Given the description of an element on the screen output the (x, y) to click on. 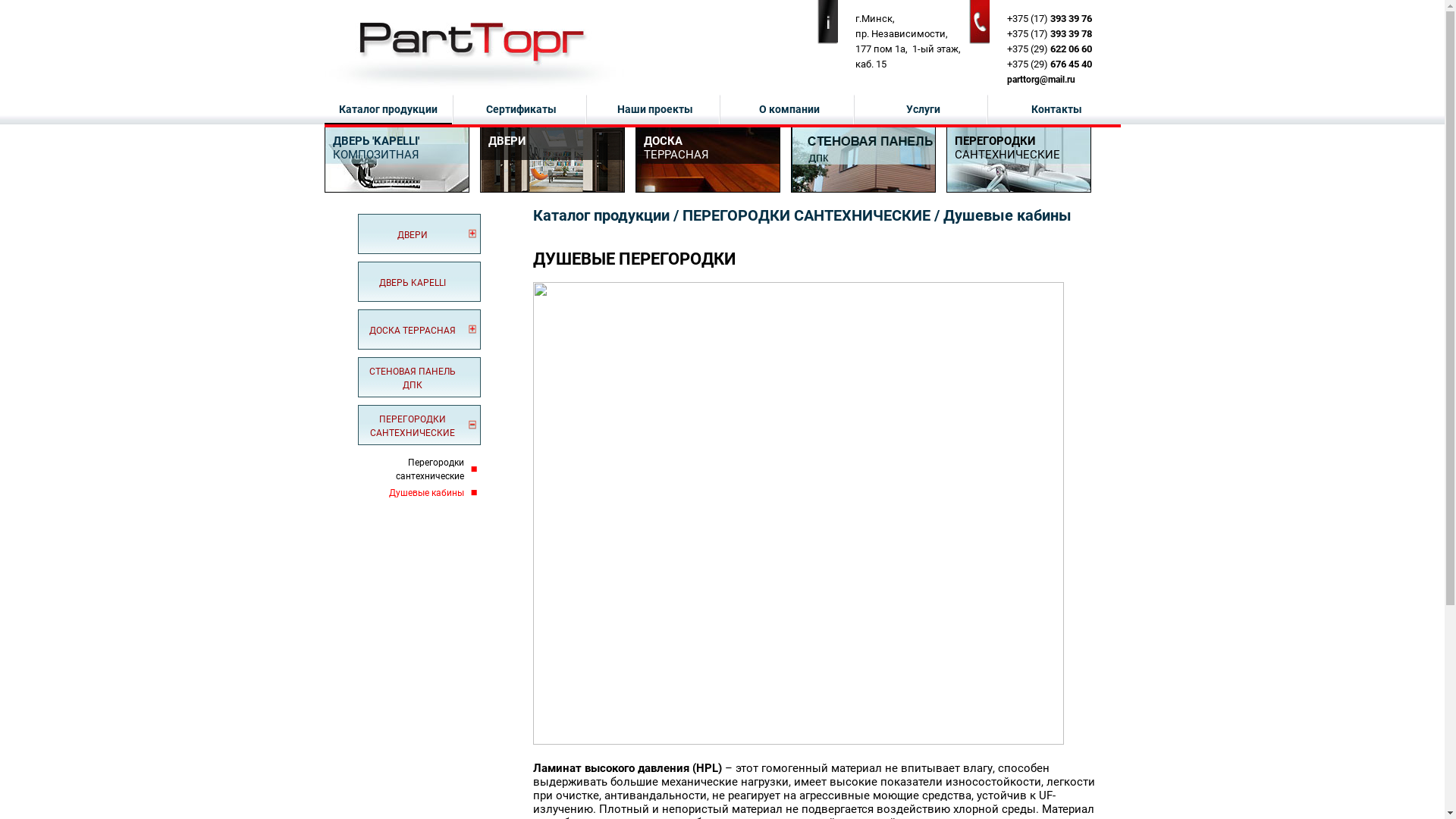
parttorg@mail.ru Element type: text (1041, 79)
